Given the description of an element on the screen output the (x, y) to click on. 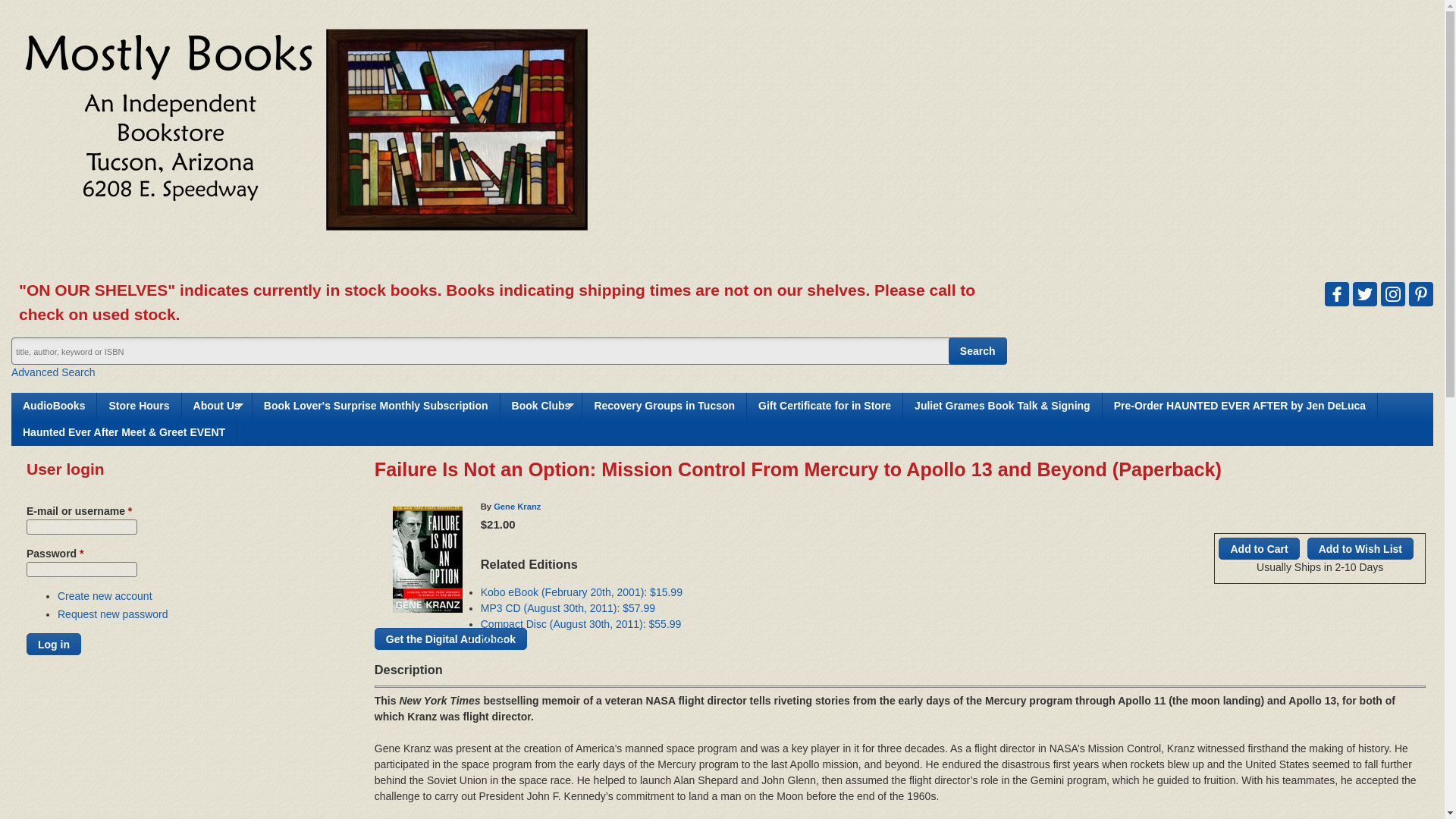
Gift Certificate for in Store (824, 406)
Add to Cart (1258, 548)
Add to Wish List (1360, 548)
Get the Digital Audiobook (450, 639)
Search (978, 350)
Enter the terms you wish to search for. (508, 350)
Add to Cart (1258, 548)
Request new password via e-mail. (113, 613)
Log in (53, 644)
Pre-Order HAUNTED EVER AFTER by Jen DeLuca (1239, 406)
Add to Wish List (1360, 548)
Home page (304, 243)
Advanced Search (53, 372)
Get the Digital Audiobook (450, 639)
